Given the description of an element on the screen output the (x, y) to click on. 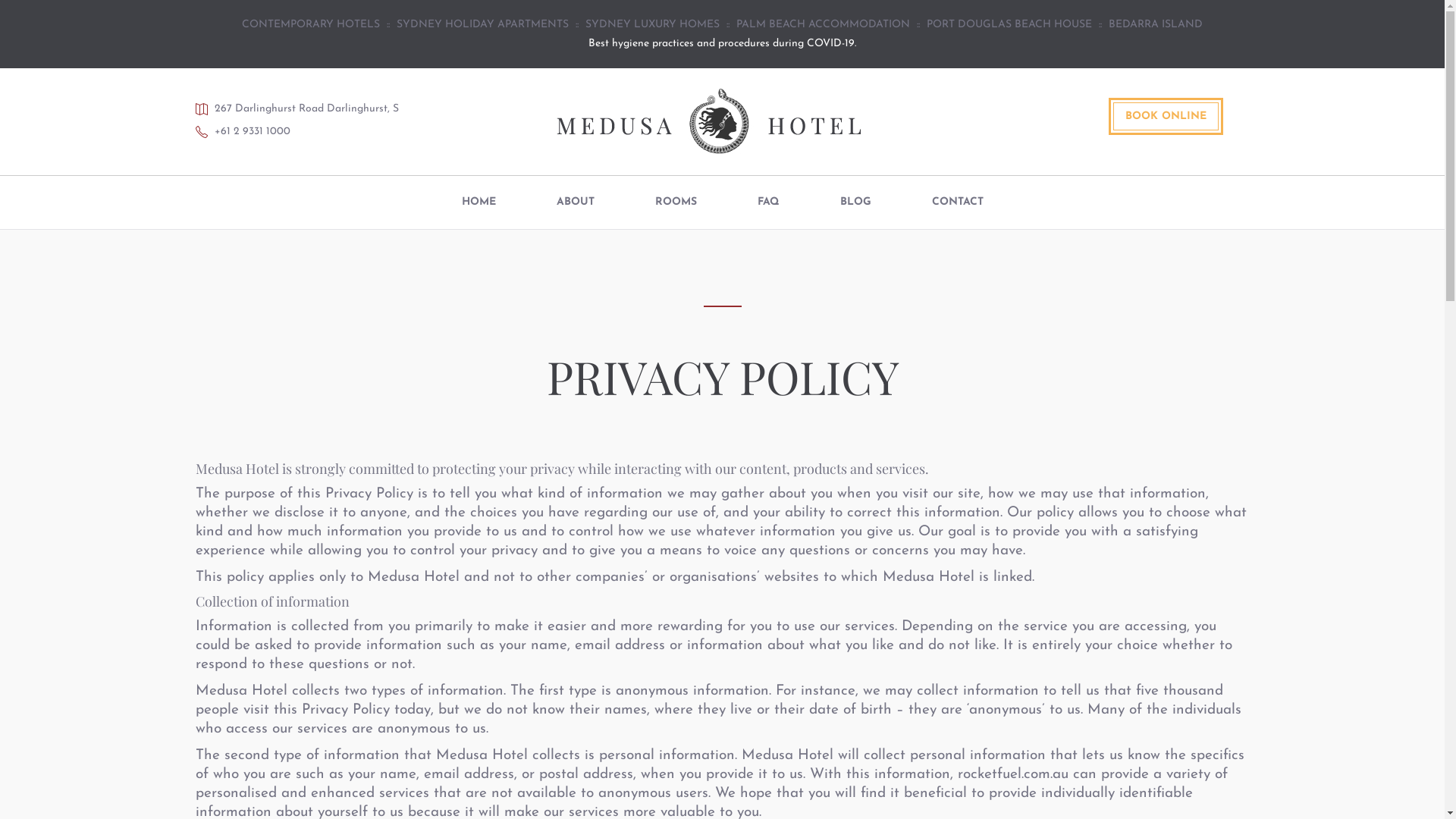
PALM BEACH ACCOMMODATION Element type: text (823, 24)
BLOG Element type: text (855, 202)
+61 2 9331 1000 Element type: text (251, 131)
SYDNEY HOLIDAY APARTMENTS Element type: text (482, 24)
BEDARRA ISLAND Element type: text (1155, 24)
Medusa Boutique Hotel Element type: hover (708, 121)
ROOMS Element type: text (675, 202)
Best hygiene practices and procedures during COVID-19. Element type: text (722, 43)
CONTEMPORARY HOTELS Element type: text (310, 24)
BOOK ONLINE Element type: text (1165, 116)
ABOUT Element type: text (575, 202)
CONTACT Element type: text (956, 202)
HOME Element type: text (477, 202)
FAQ Element type: text (767, 202)
SYDNEY LUXURY HOMES Element type: text (652, 24)
PORT DOUGLAS BEACH HOUSE Element type: text (1009, 24)
